Given the description of an element on the screen output the (x, y) to click on. 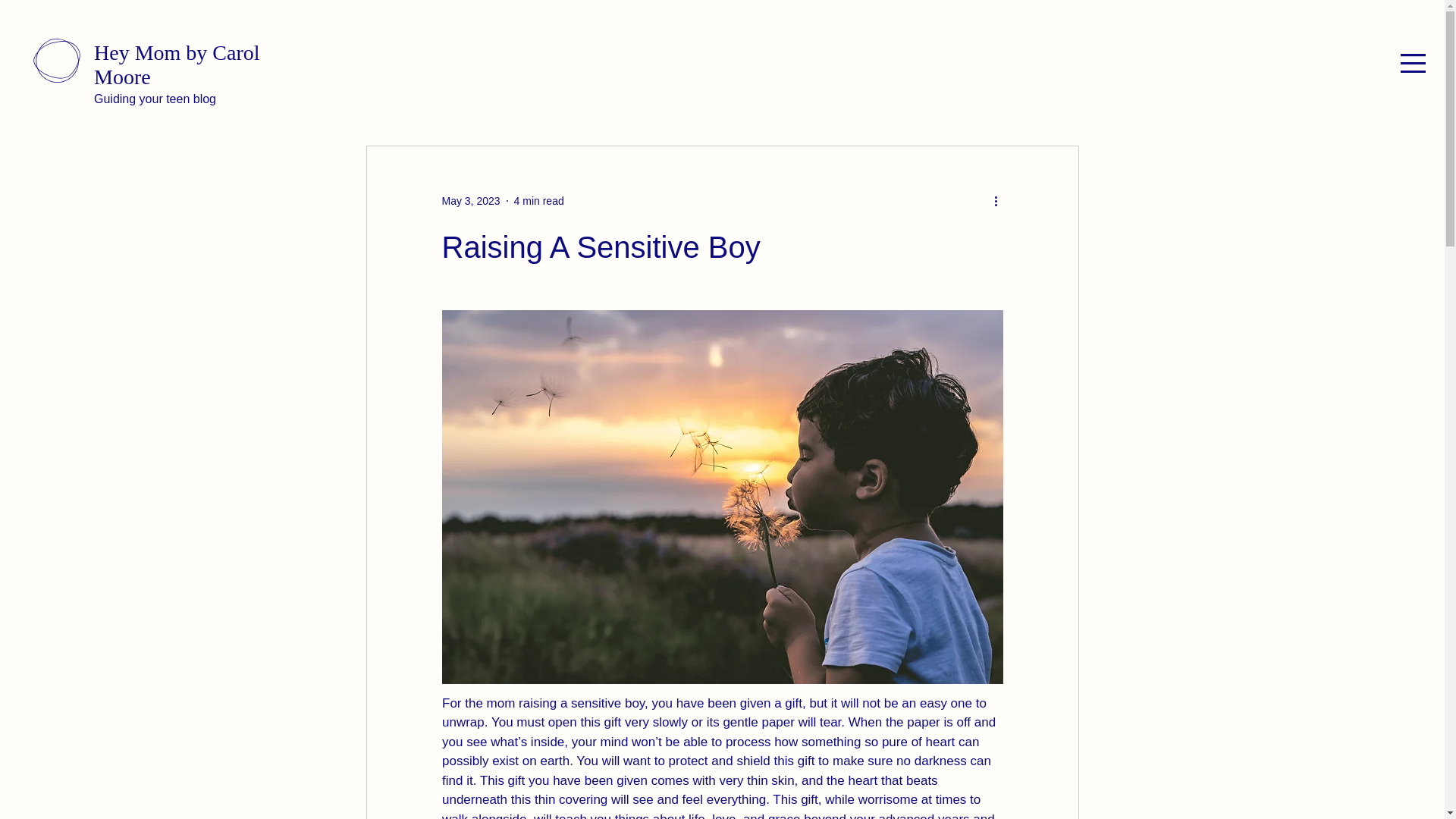
May 3, 2023 (470, 200)
4 min read (538, 200)
Guiding your teen blog (154, 98)
Hey Mom by Carol Moore (177, 64)
